Given the description of an element on the screen output the (x, y) to click on. 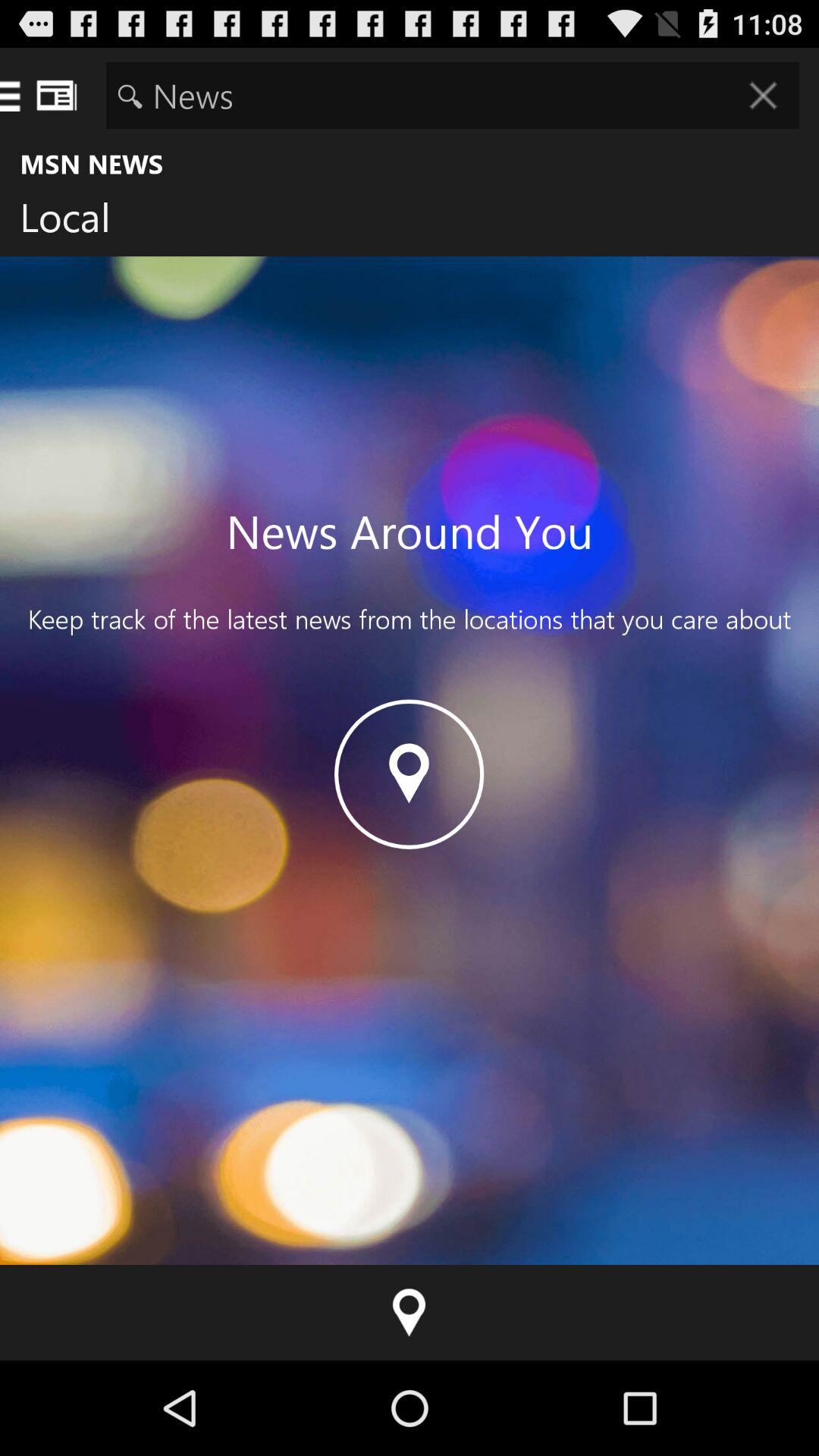
news search bar (452, 95)
